Given the description of an element on the screen output the (x, y) to click on. 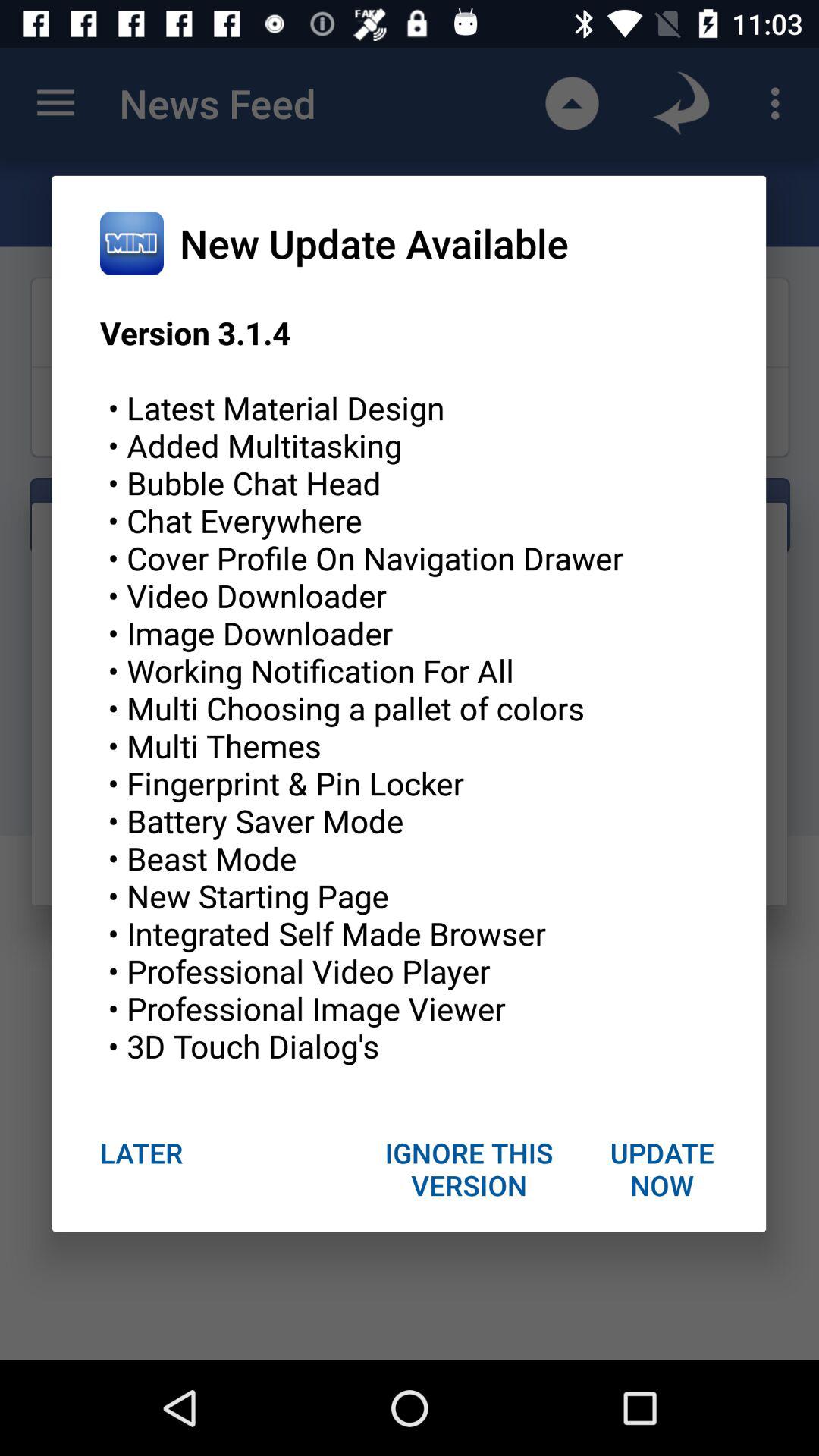
launch icon next to the update
now item (469, 1168)
